Given the description of an element on the screen output the (x, y) to click on. 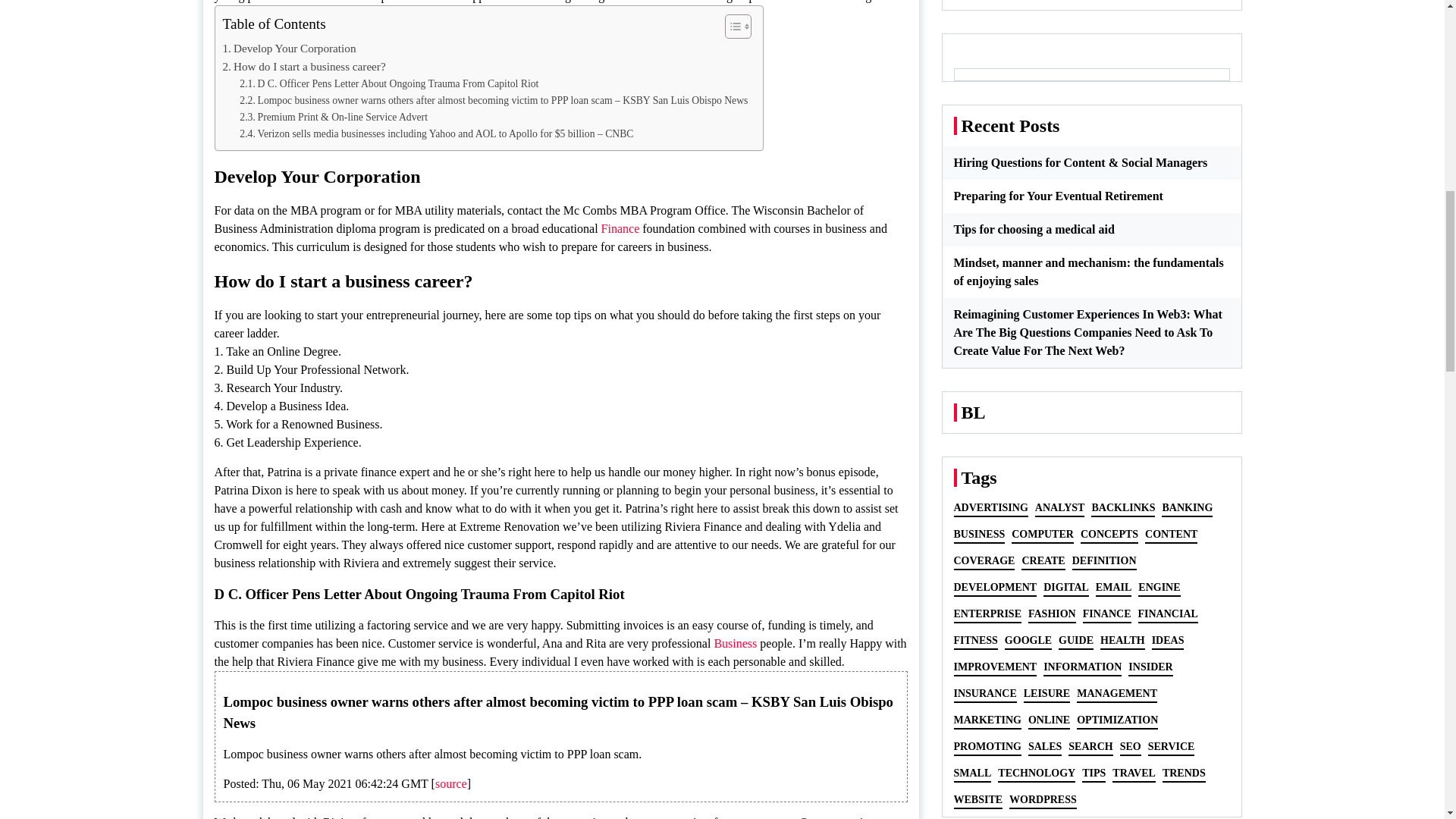
Develop Your Corporation (289, 48)
How do I start a business career? (303, 66)
